Given the description of an element on the screen output the (x, y) to click on. 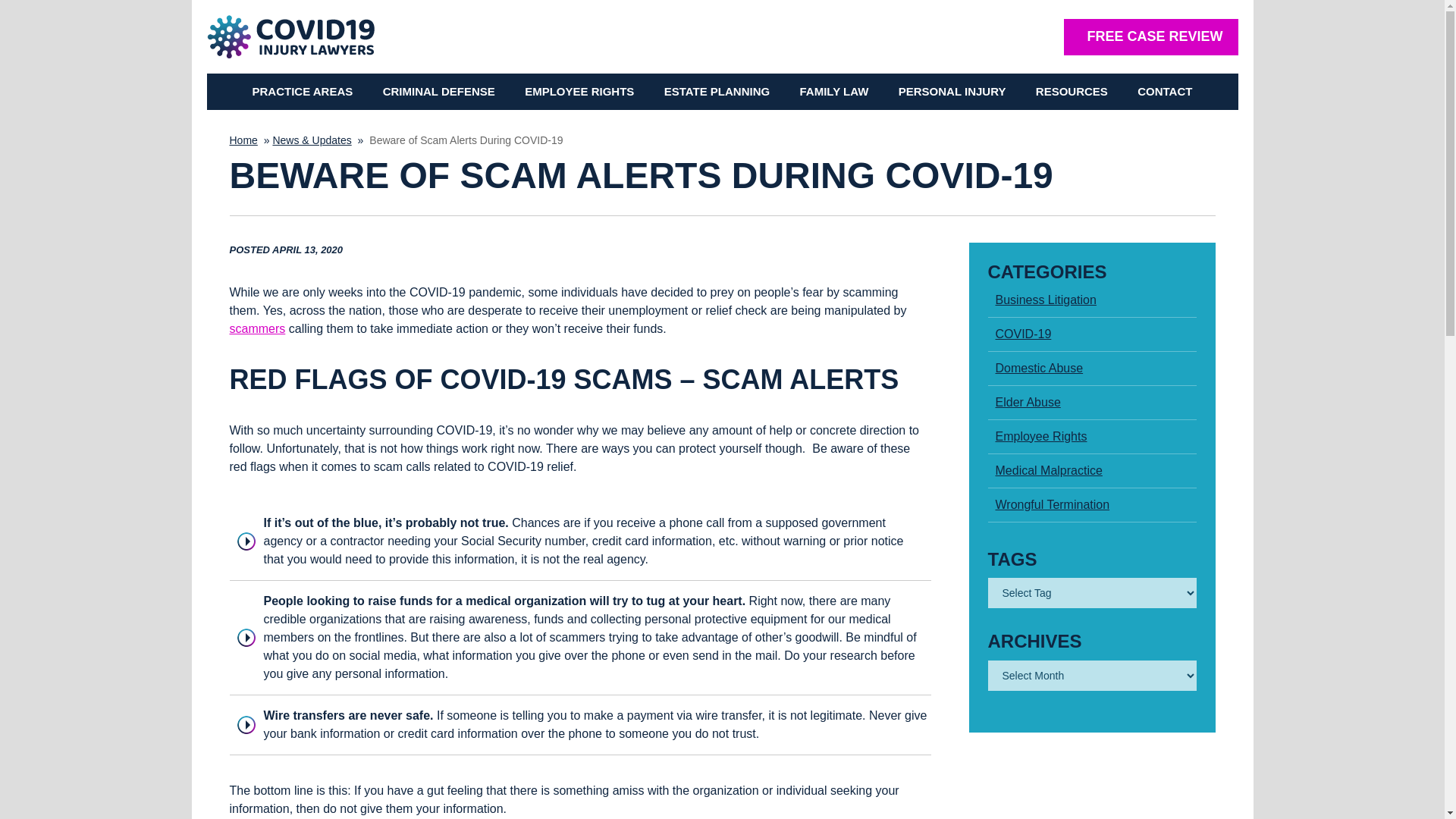
PRACTICE AREAS (301, 91)
RESOURCES (1071, 91)
ESTATE PLANNING (716, 91)
PERSONAL INJURY (952, 91)
FAMILY LAW (1150, 36)
EMPLOYEE RIGHTS (834, 91)
CRIMINAL DEFENSE (579, 91)
Home (438, 91)
CONTACT (242, 140)
